Given the description of an element on the screen output the (x, y) to click on. 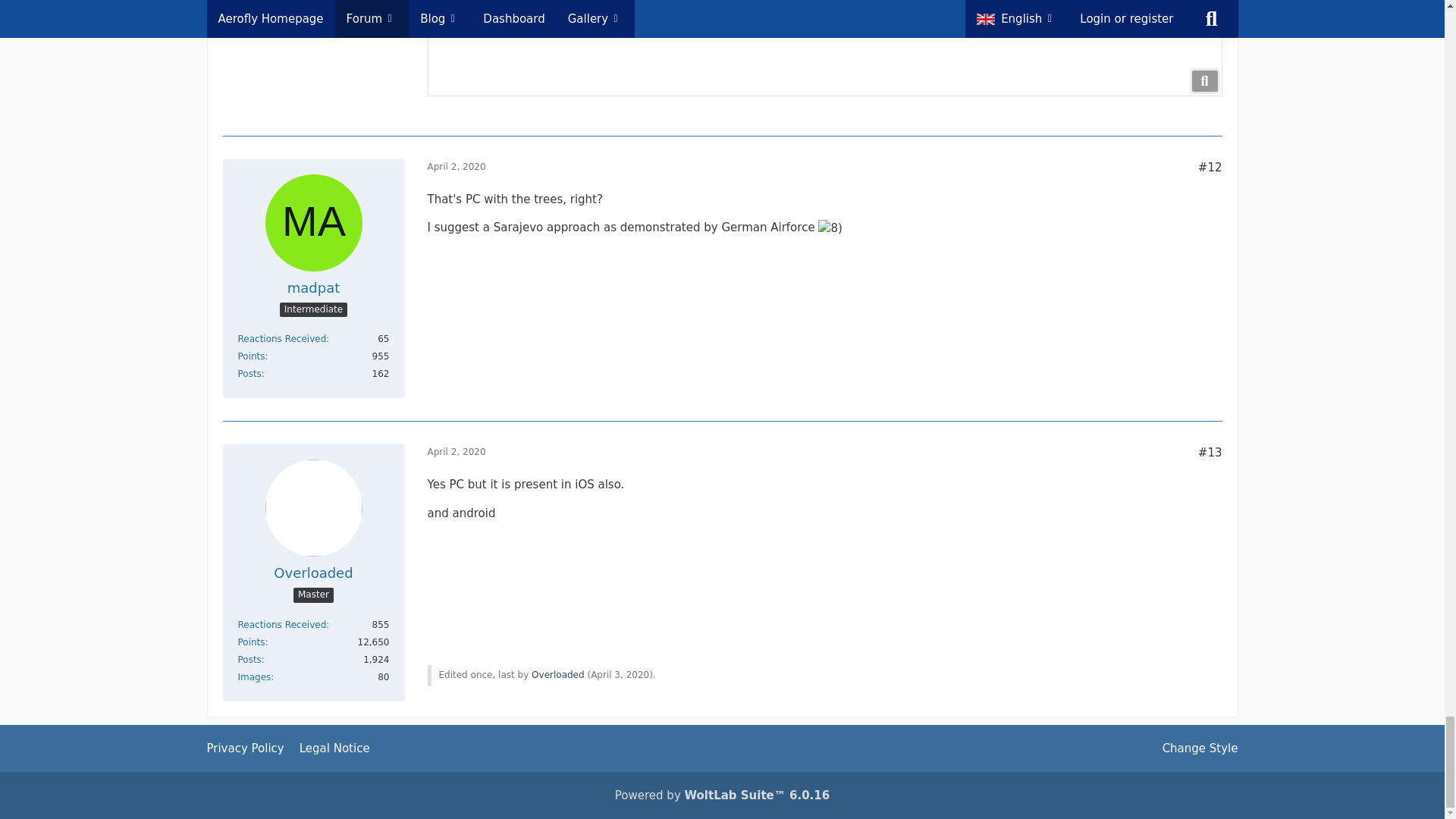
cool (829, 228)
